Given the description of an element on the screen output the (x, y) to click on. 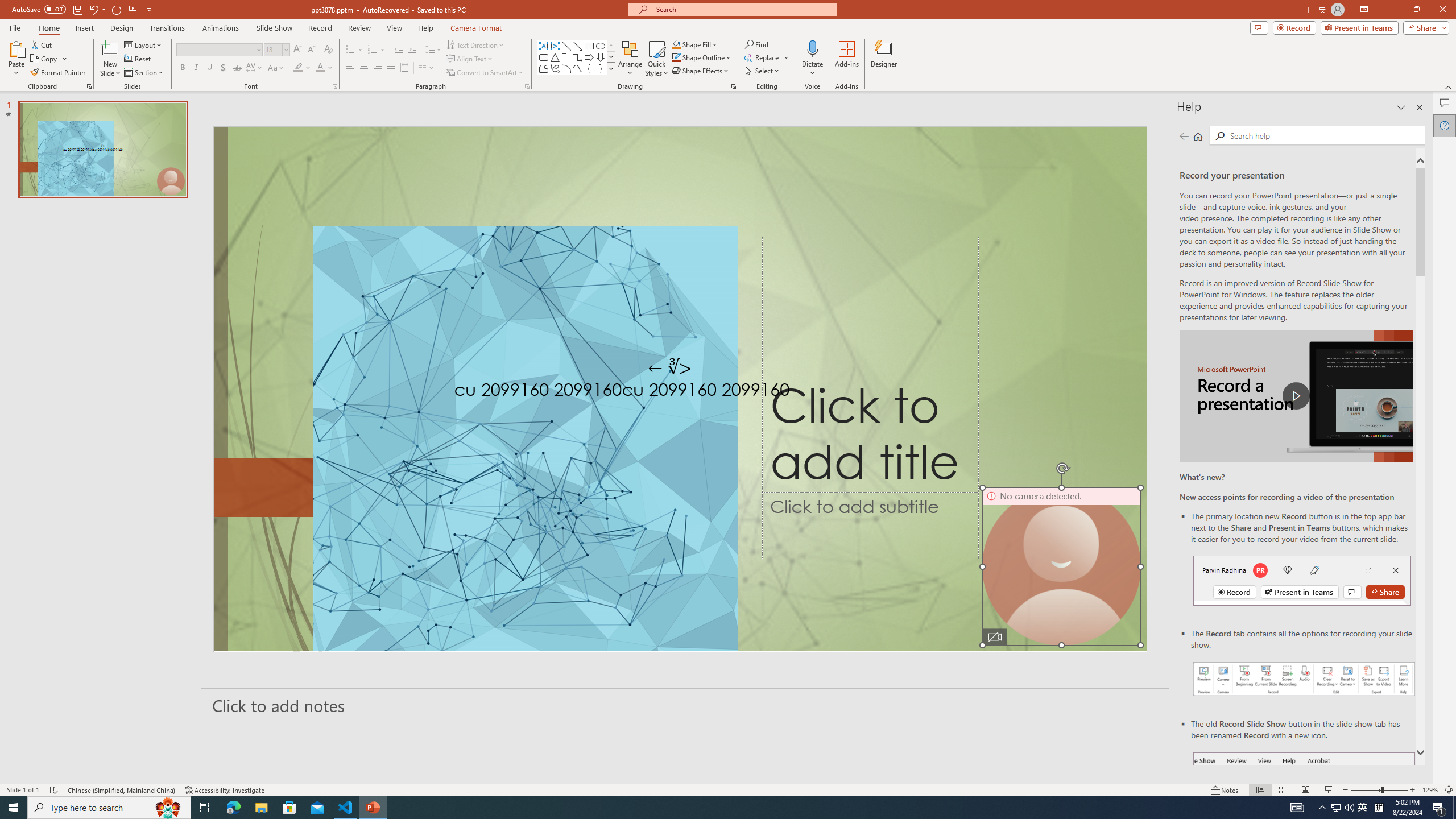
Camera 9, No camera detected. (1061, 566)
Record button in top bar (1301, 580)
TextBox 7 (670, 367)
